Given the description of an element on the screen output the (x, y) to click on. 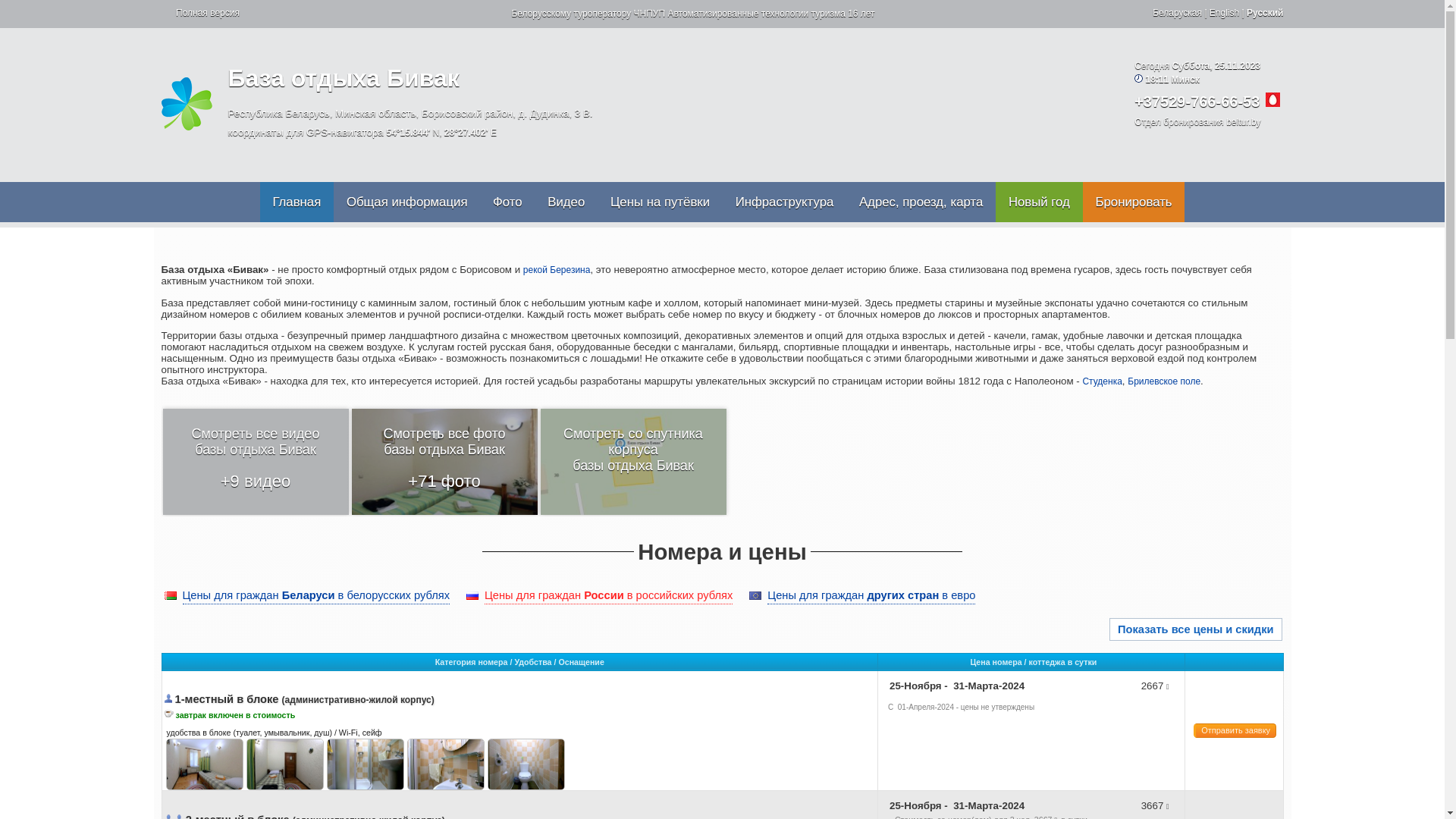
English Element type: text (1224, 12)
+37529-766-66-53 Element type: text (1196, 101)
